Given the description of an element on the screen output the (x, y) to click on. 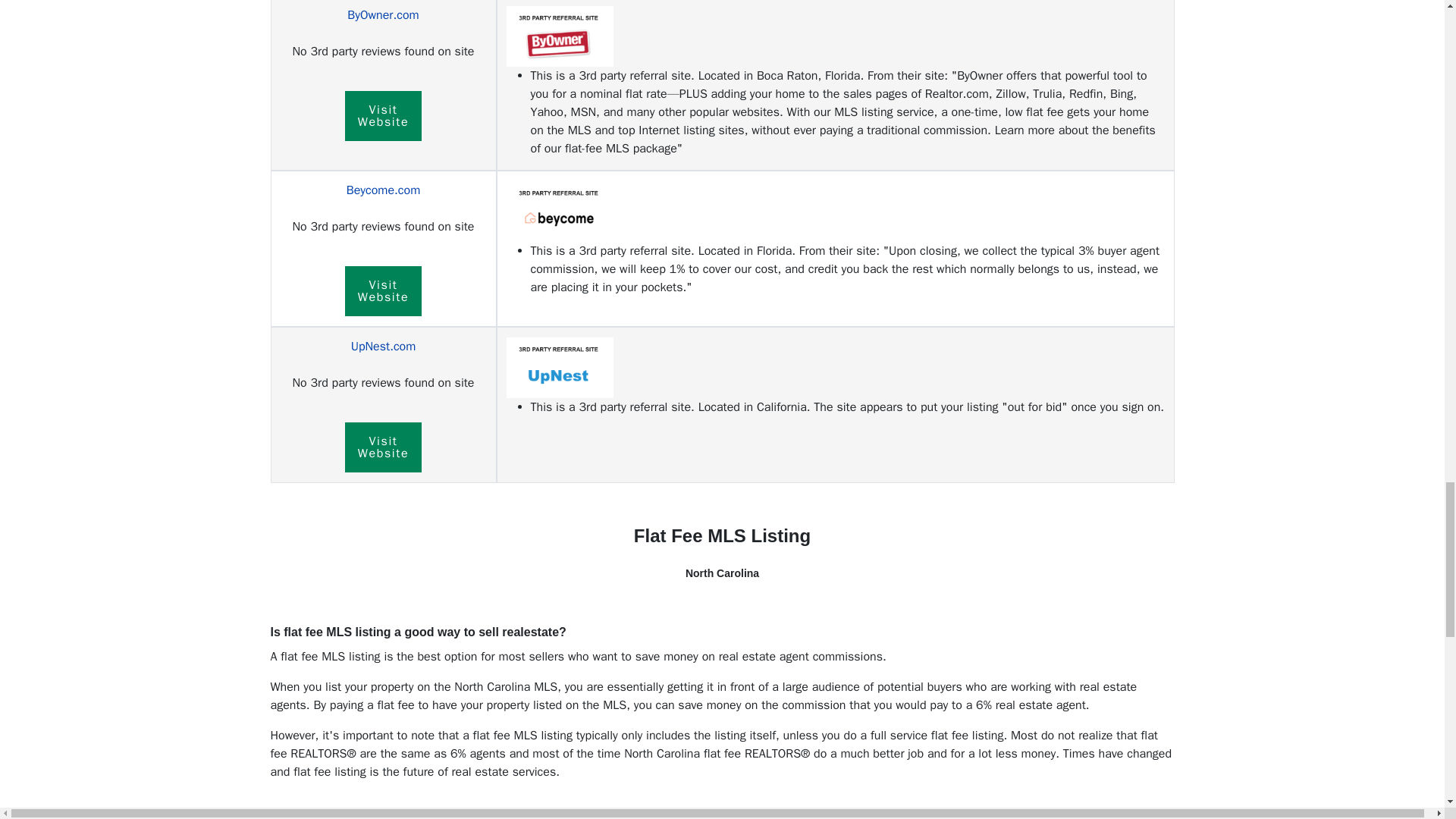
ByOwner.com (383, 291)
Beycome.com (383, 14)
